Given the description of an element on the screen output the (x, y) to click on. 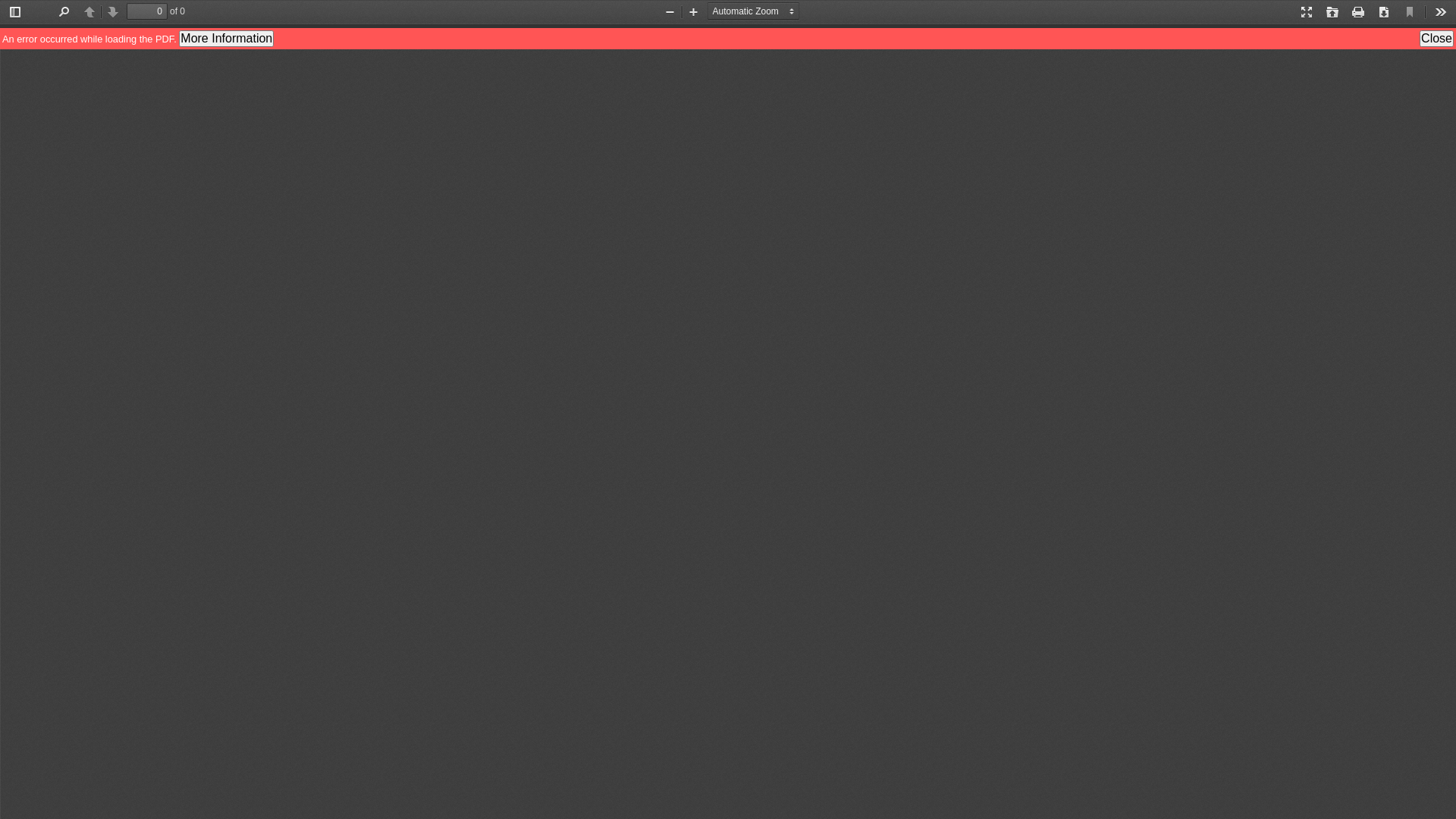
Close Element type: text (1436, 38)
Toggle Sidebar Element type: hover (15, 11)
Current view (copy or open in new window) Element type: hover (1409, 11)
Download Element type: hover (1383, 11)
Next Page Element type: hover (112, 11)
Tools Element type: hover (1440, 11)
Print Element type: hover (1358, 11)
Zoom Out Element type: hover (670, 11)
Switch to Presentation Mode Element type: hover (1306, 11)
Find in Document Element type: hover (63, 11)
Zoom In Element type: hover (692, 11)
Page Element type: hover (146, 11)
More Information Element type: text (225, 38)
Open File Element type: hover (1332, 11)
Previous Page Element type: hover (89, 11)
